Given the description of an element on the screen output the (x, y) to click on. 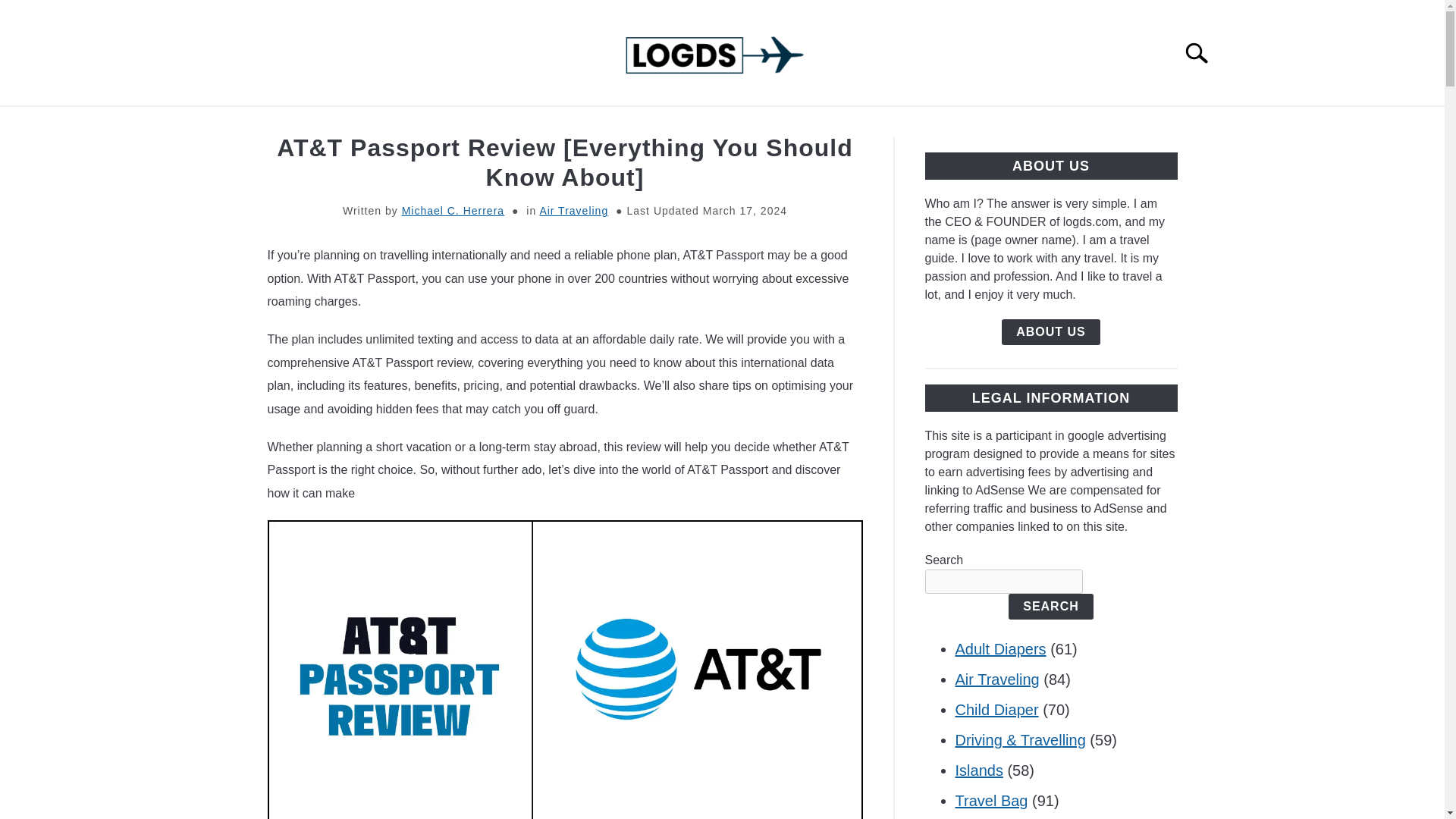
ABOUT US (781, 123)
HOME (387, 123)
DIAPER (553, 123)
TRAVEL FOODS (664, 123)
Search (1203, 52)
Michael C. Herrera (452, 210)
TRAVEL (467, 123)
CONTACT US (1033, 123)
PRIVACY POLICY (902, 123)
Air Traveling (573, 210)
